Given the description of an element on the screen output the (x, y) to click on. 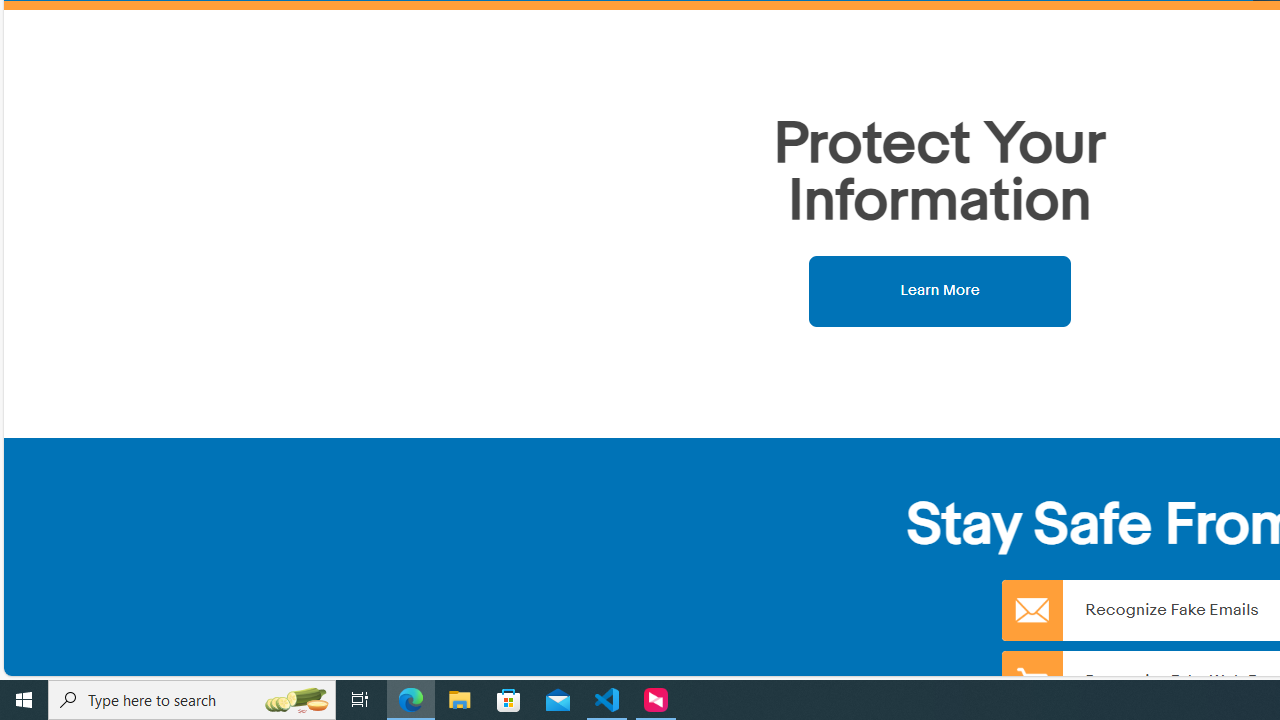
Learn More (939, 290)
